Given the description of an element on the screen output the (x, y) to click on. 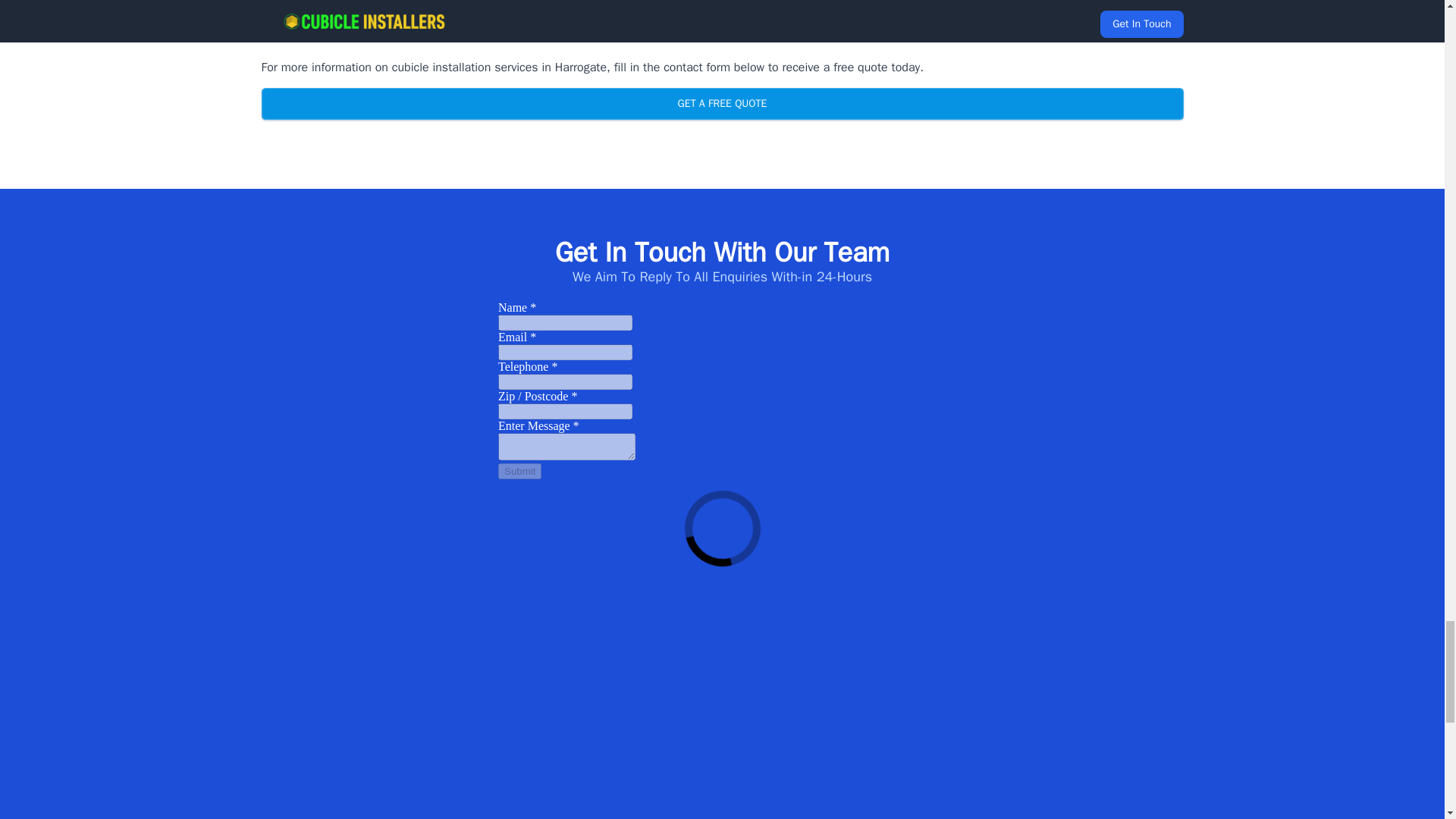
GET A FREE QUOTE (721, 103)
